Given the description of an element on the screen output the (x, y) to click on. 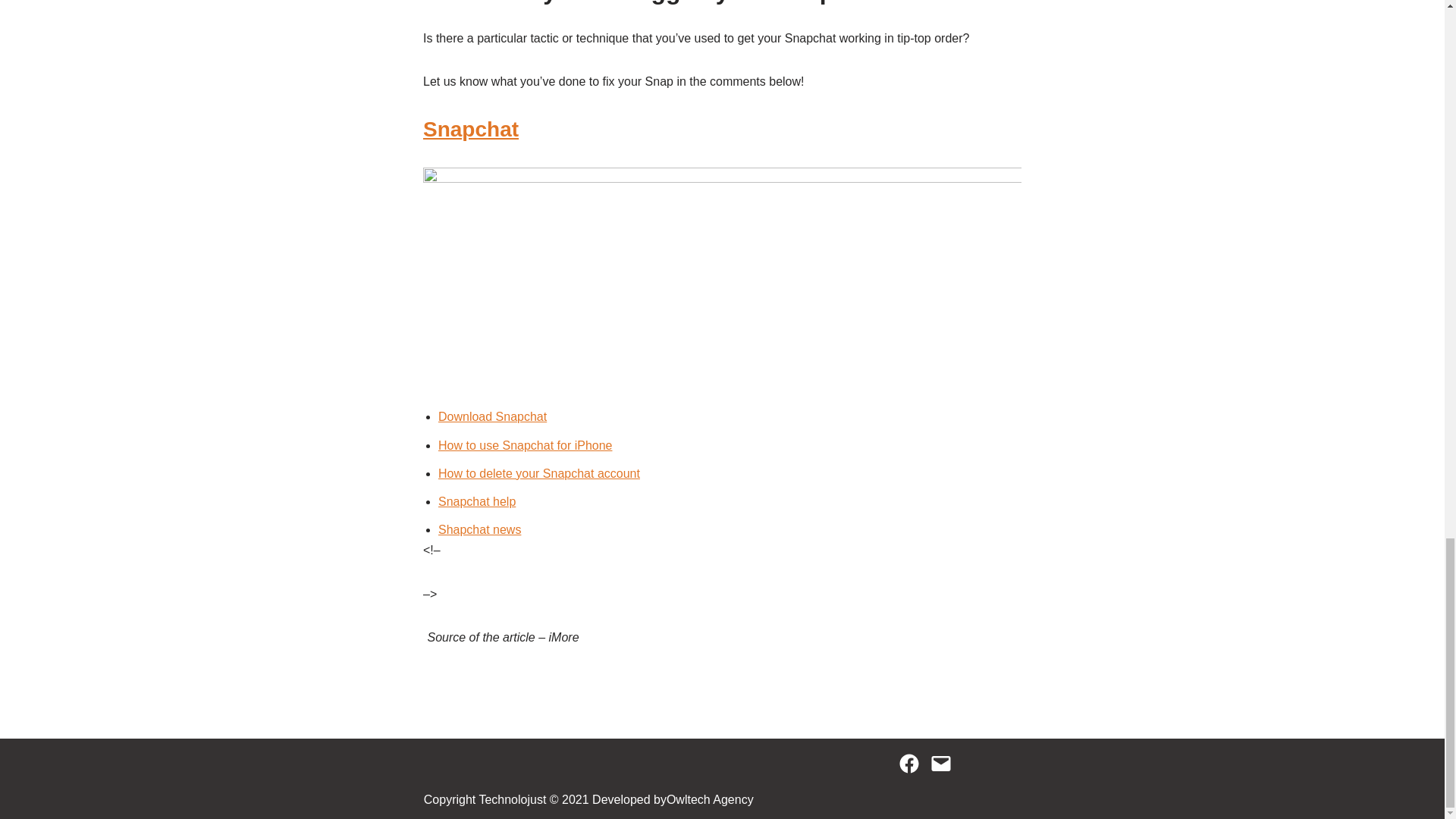
How to delete your Snapchat account (539, 472)
How to use Snapchat for iPhone (524, 445)
Owltech Agency (710, 799)
Snapchat help (476, 501)
Download Snapchat (492, 416)
Snapchat (470, 128)
Shapchat news (479, 529)
